Given the description of an element on the screen output the (x, y) to click on. 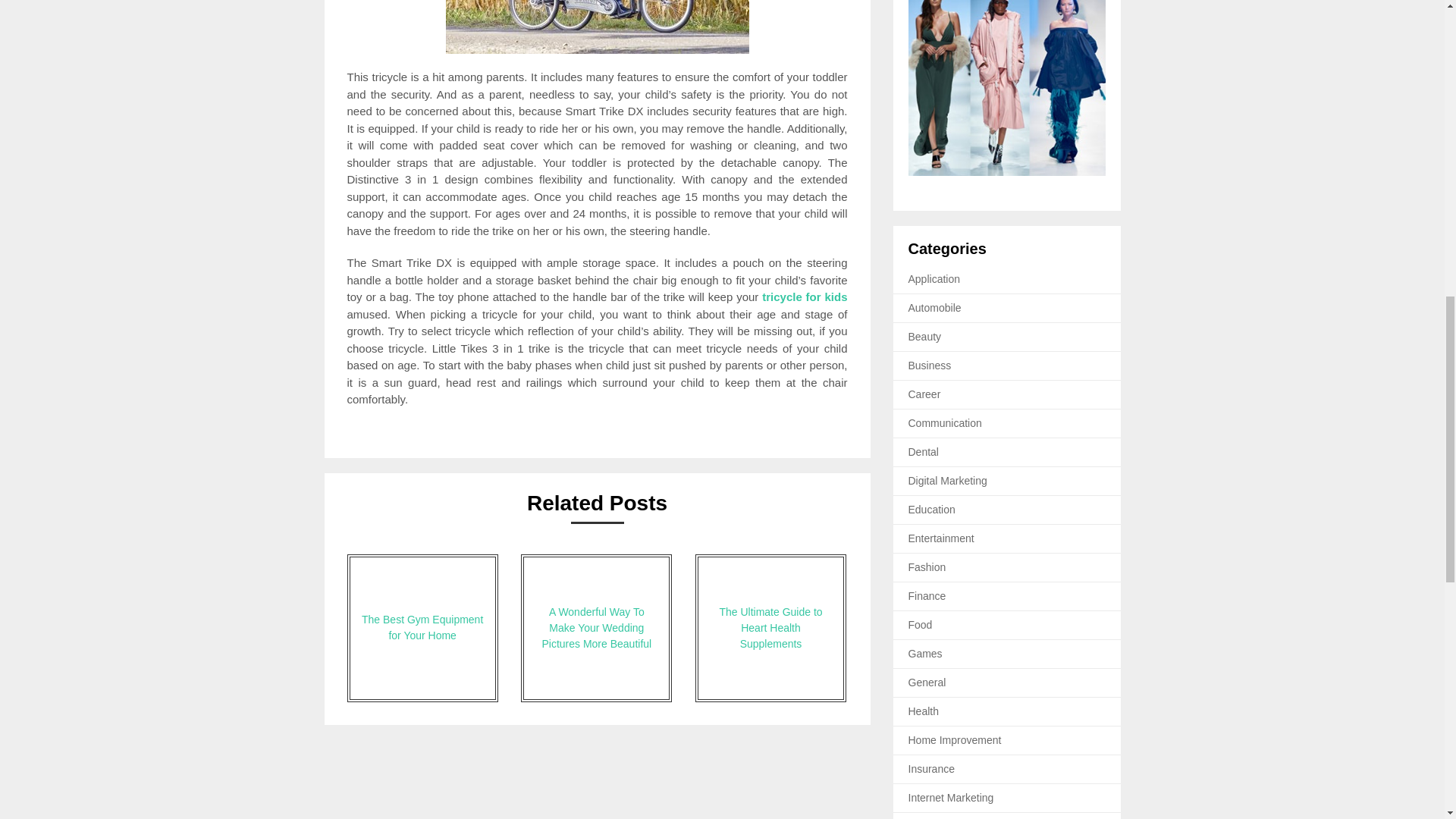
Automobile (934, 307)
The Ultimate Guide to Heart Health Supplements (770, 627)
General (927, 682)
Entertainment (941, 538)
A Wonderful Way To Make Your Wedding Pictures More Beautiful (596, 627)
The Best Gym Equipment for Your Home (422, 627)
Application (934, 278)
Career (924, 394)
A Wonderful Way To Make Your Wedding Pictures More Beautiful (596, 627)
Dental (923, 451)
